Given the description of an element on the screen output the (x, y) to click on. 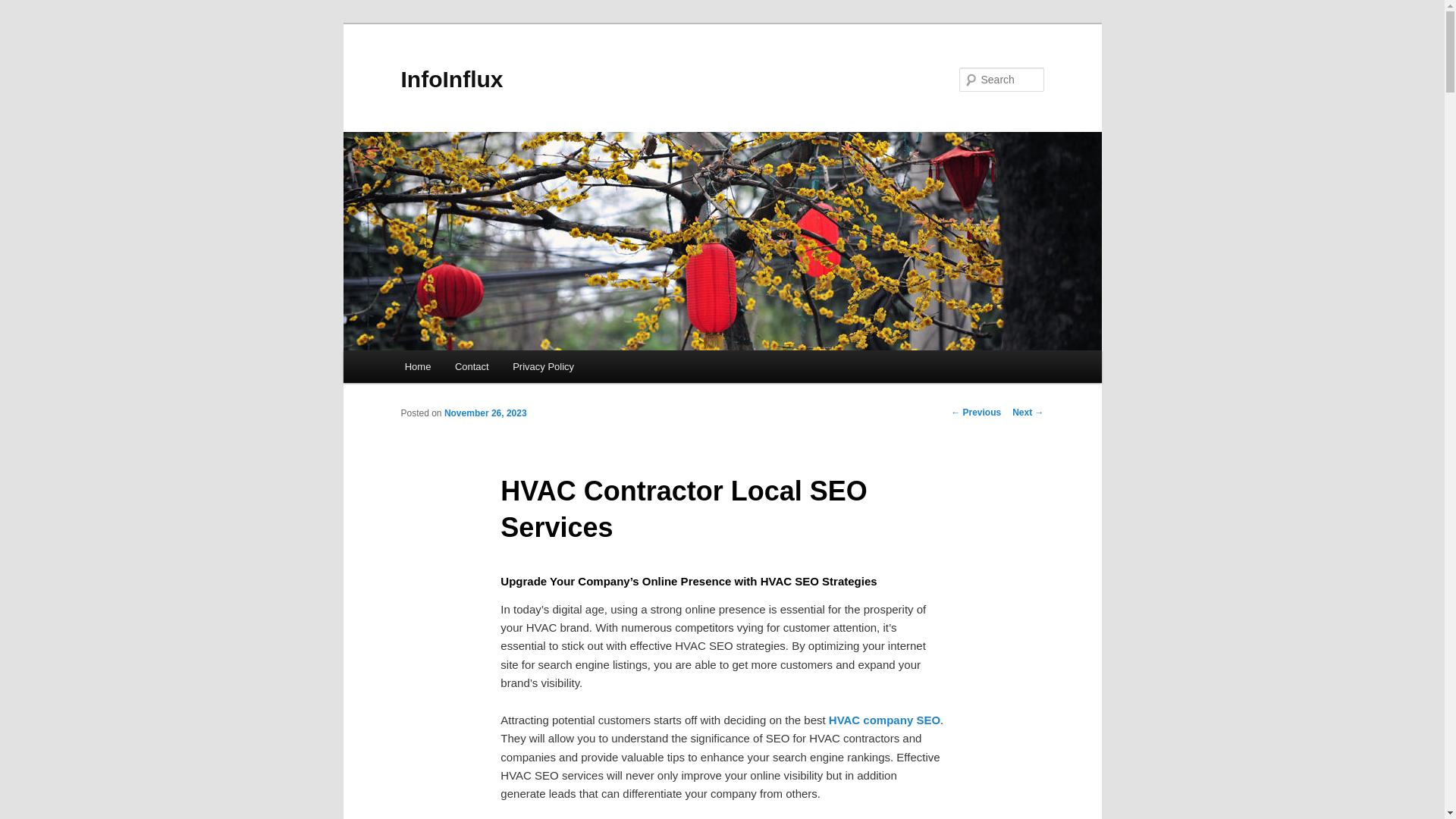
Search (24, 8)
November 26, 2023 (485, 412)
12:00 am (485, 412)
Home (417, 366)
Contact (471, 366)
Privacy Policy (542, 366)
HVAC company SEO (884, 719)
InfoInflux (451, 78)
